Given the description of an element on the screen output the (x, y) to click on. 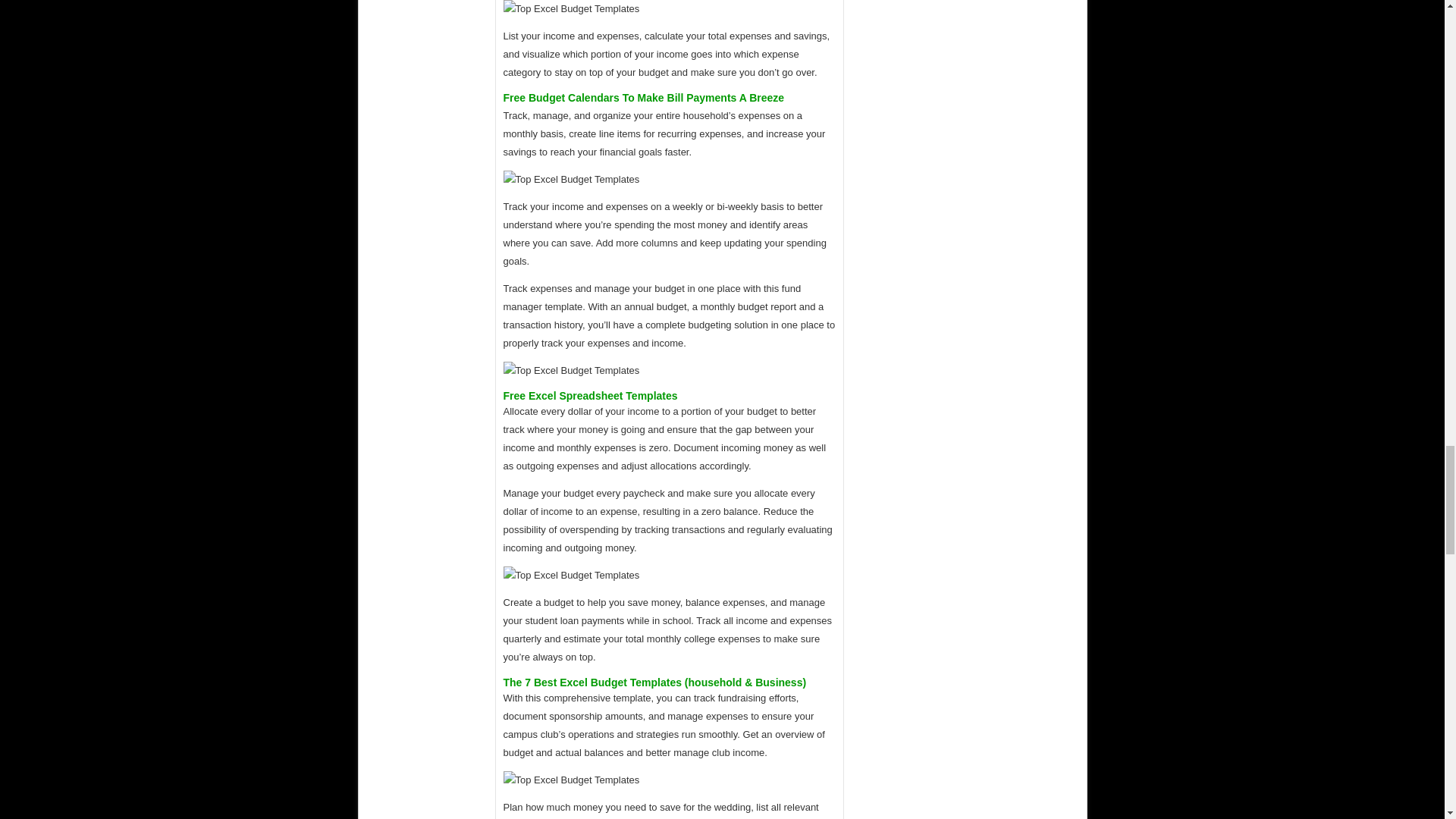
Top Excel Budget Templates (571, 179)
Top Excel Budget Templates (571, 780)
Top Excel Budget Templates (571, 575)
Top Excel Budget Templates (571, 370)
Top Excel Budget Templates (571, 9)
